Given the description of an element on the screen output the (x, y) to click on. 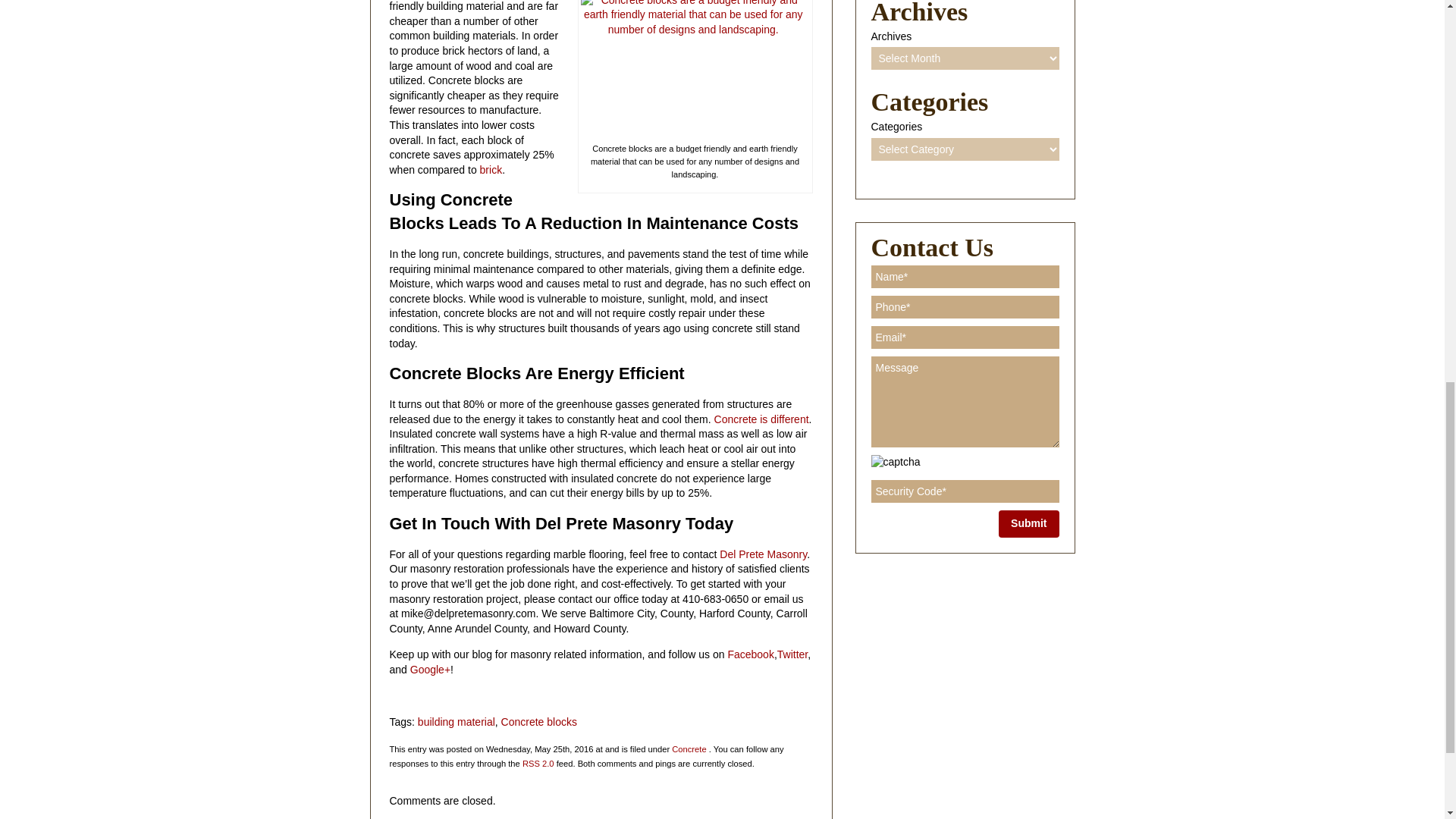
Submit (1028, 523)
Facebook (749, 654)
Del Prete Masonry (761, 553)
Twitter (792, 654)
building material (456, 721)
brick (491, 169)
Concrete (688, 748)
Concrete is different (761, 418)
Concrete blocks (538, 721)
Submit (1028, 523)
RSS 2.0 (538, 763)
